Given the description of an element on the screen output the (x, y) to click on. 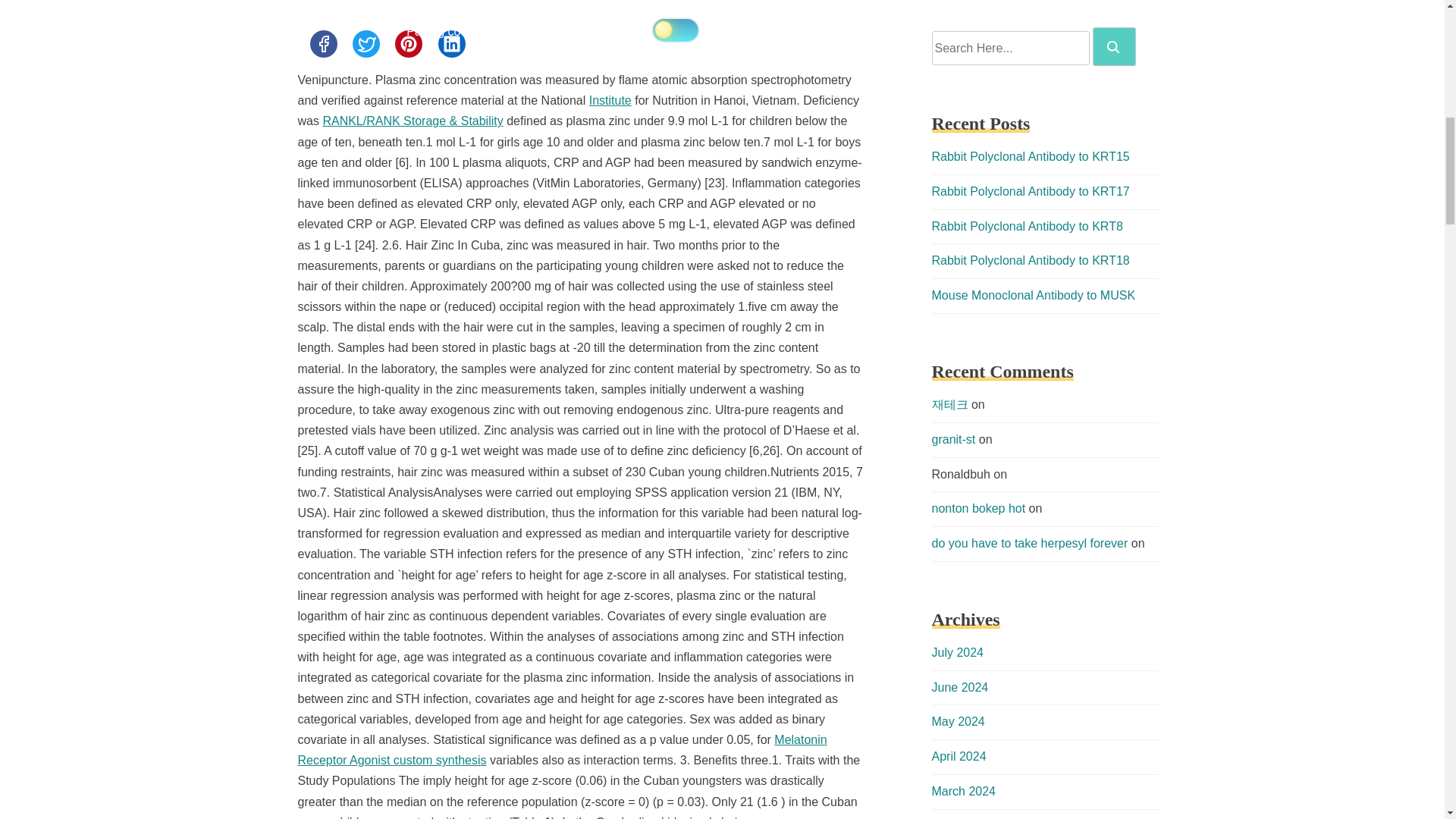
Share this post on Twitter (366, 43)
Share this post on Facebook (322, 43)
Institute (610, 100)
Melatonin Receptor Agonist custom synthesis (562, 749)
Share this post on Linkedin (451, 43)
Share this post on Pinterest (408, 43)
Search (1113, 46)
